Given the description of an element on the screen output the (x, y) to click on. 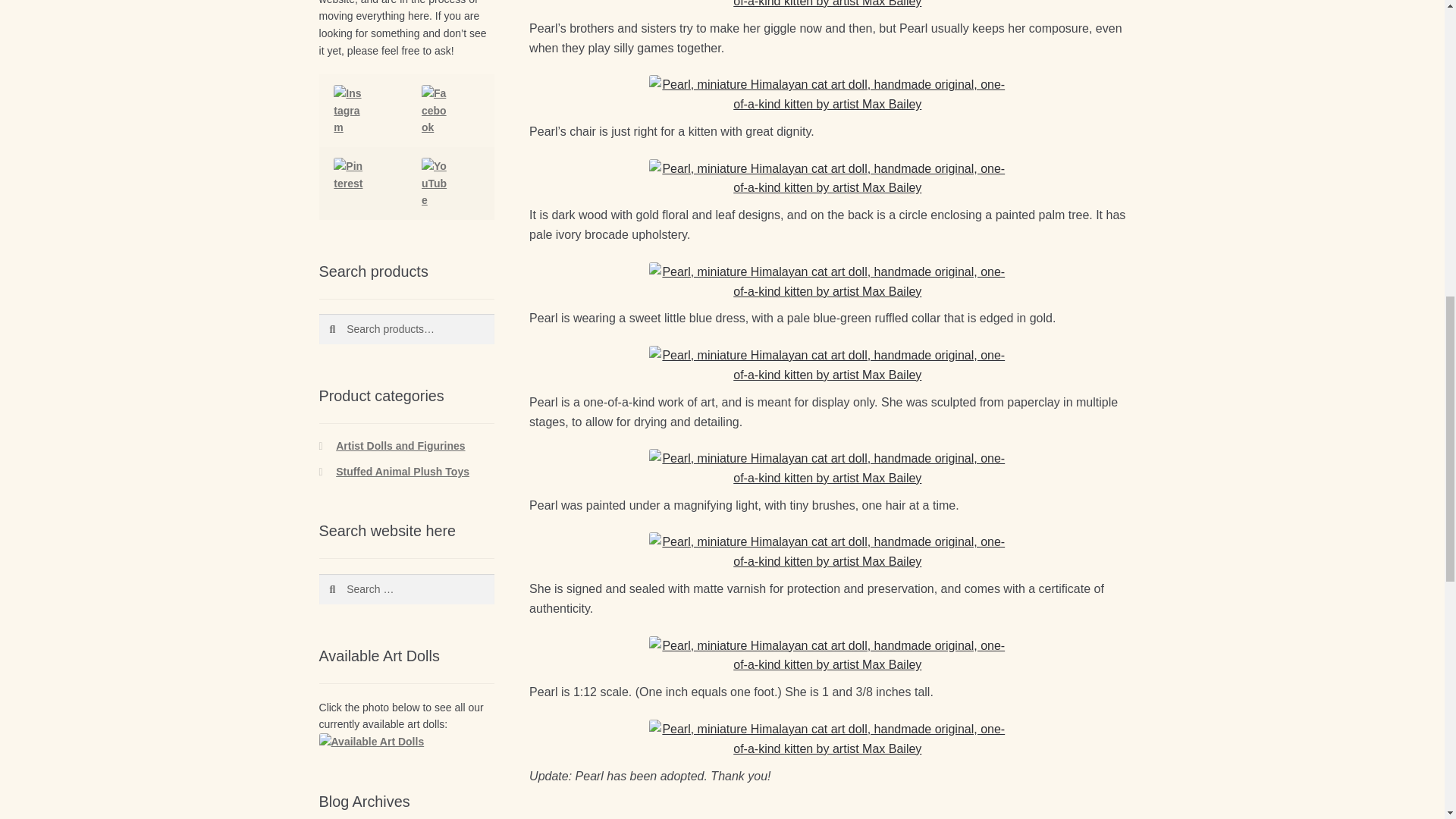
Available Art Dolls (399, 742)
